Given the description of an element on the screen output the (x, y) to click on. 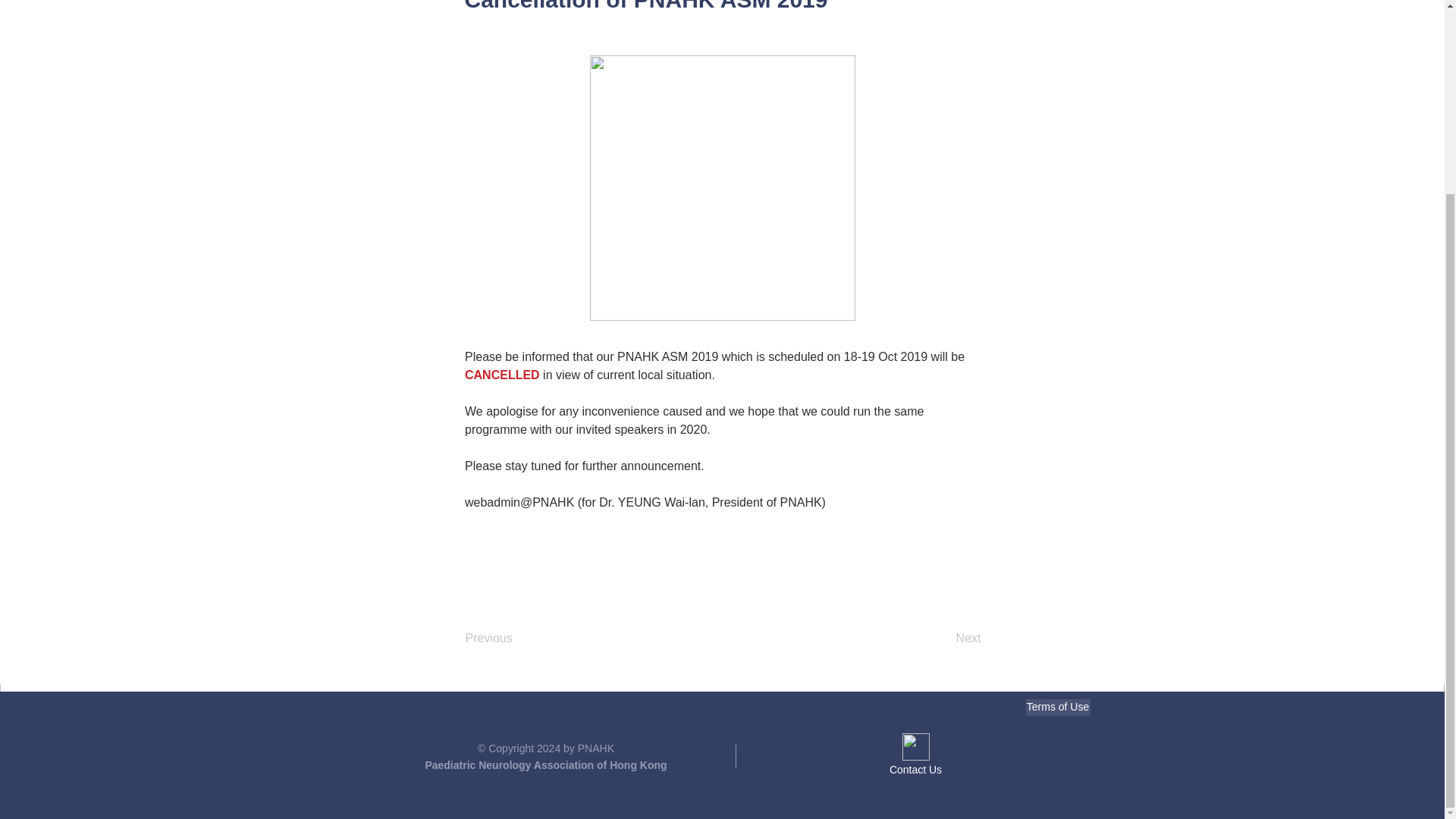
Terms of Use (1057, 707)
Previous (515, 638)
Next (943, 638)
